Given the description of an element on the screen output the (x, y) to click on. 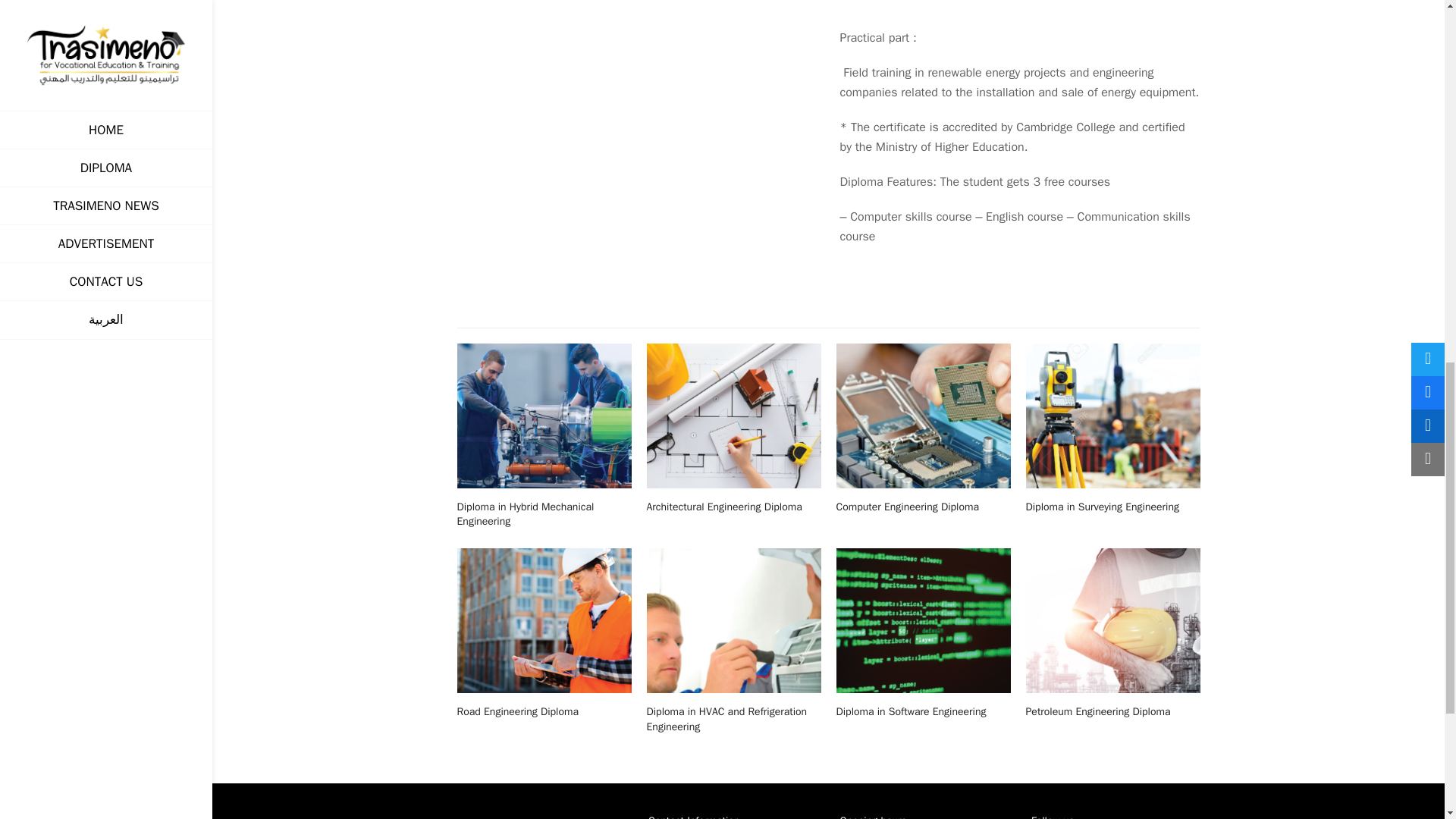
Road Engineering Diploma (517, 711)
Diploma in Software Engineering (910, 711)
Diploma in Surveying Engineering (1101, 506)
Diploma in Hybrid Mechanical Engineering (543, 414)
Road Engineering Diploma (543, 619)
Diploma in HVAC and Refrigeration Engineering (726, 718)
Diploma in Software Engineering (922, 619)
Computer Engineering Diploma (922, 414)
Petroleum Engineering Diploma (1097, 711)
Architectural Engineering Diploma (733, 414)
Diploma in HVAC and Refrigeration Engineering (733, 619)
Diploma in Surveying Engineering (1112, 414)
Petroleum Engineering Diploma (1112, 619)
Diploma in Hybrid Mechanical Engineering (525, 513)
Architectural Engineering Diploma (724, 506)
